Given the description of an element on the screen output the (x, y) to click on. 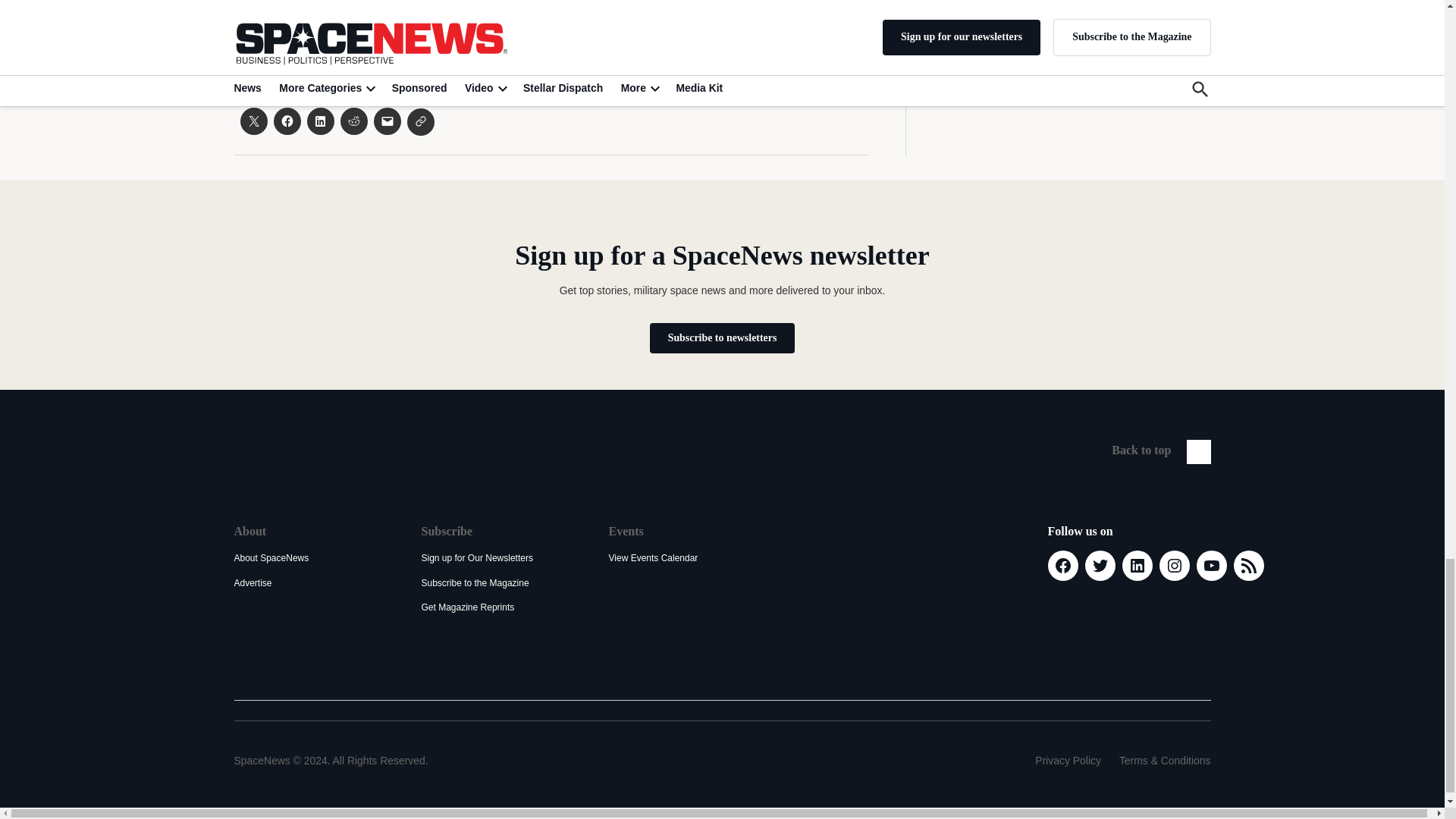
Click to share on Facebook (286, 121)
Click to share on Clipboard (419, 121)
Click to share on X (253, 121)
Click to email a link to a friend (386, 121)
Click to share on LinkedIn (319, 121)
Click to share on Reddit (352, 121)
